Given the description of an element on the screen output the (x, y) to click on. 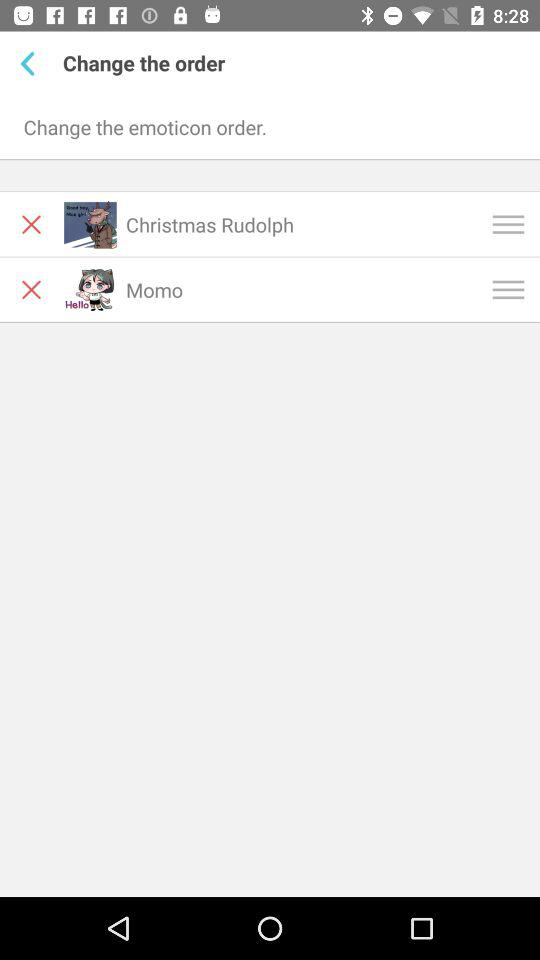
delete this emoticon (31, 224)
